Given the description of an element on the screen output the (x, y) to click on. 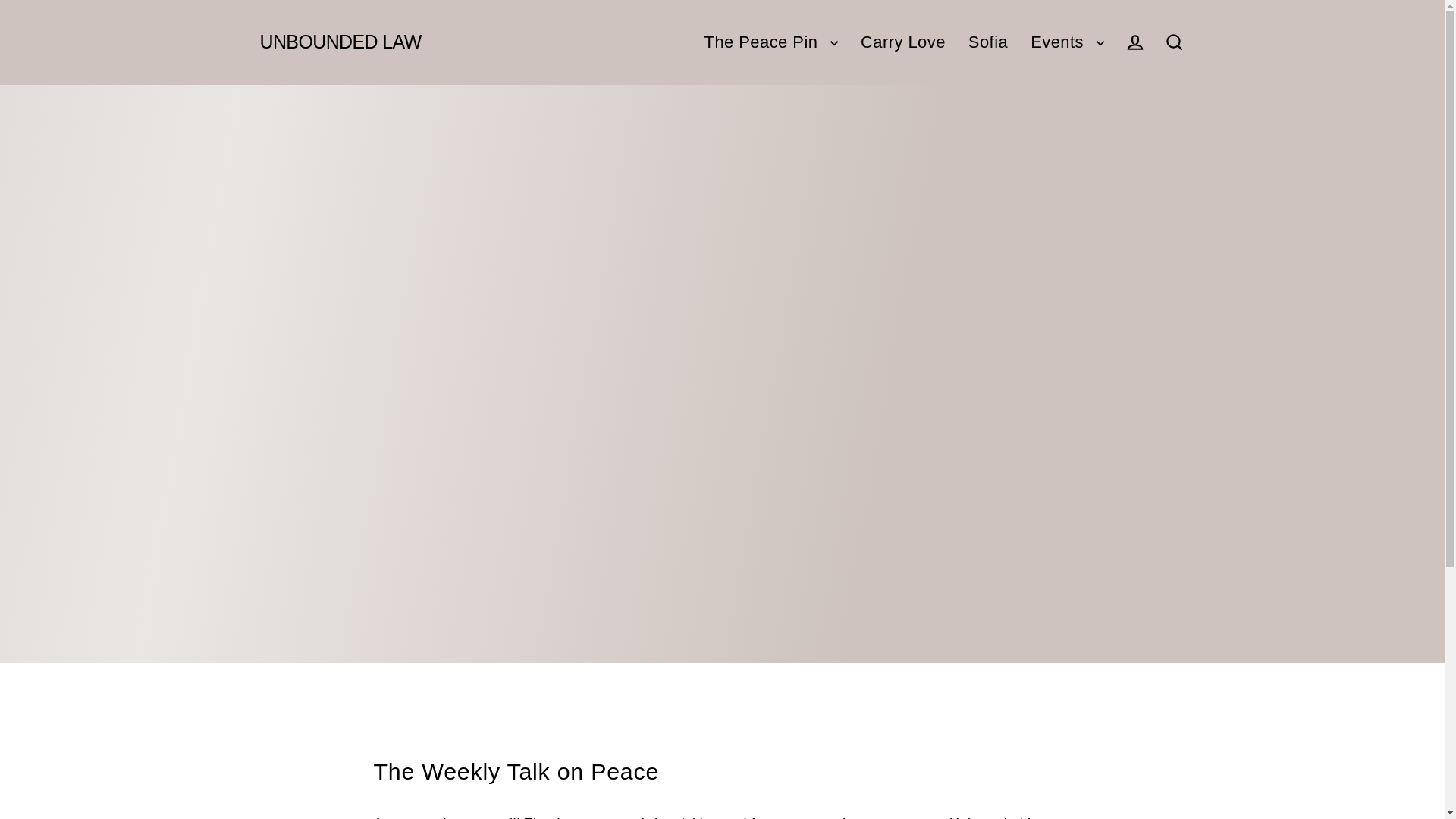
Sofia (987, 42)
Carry Love (902, 42)
Search (1173, 41)
Log in (1134, 41)
UNBOUNDED LAW (339, 41)
